Given the description of an element on the screen output the (x, y) to click on. 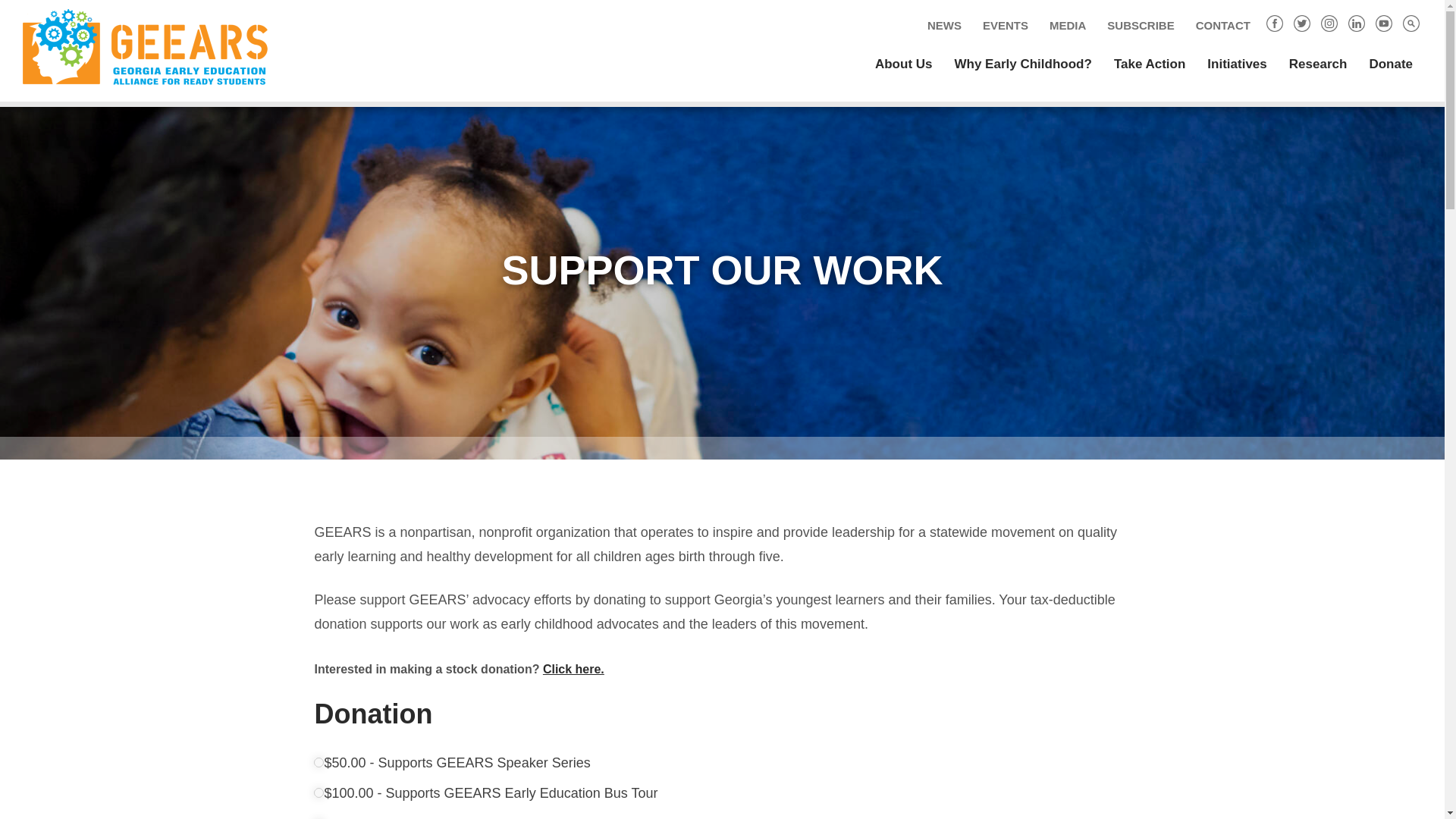
50.000000 (318, 762)
100.000000 (318, 792)
Take Action (1149, 63)
Why Early Childhood? (1022, 63)
About Us (904, 63)
GEEARS (156, 47)
Research (1317, 63)
Initiatives (1236, 63)
